Given the description of an element on the screen output the (x, y) to click on. 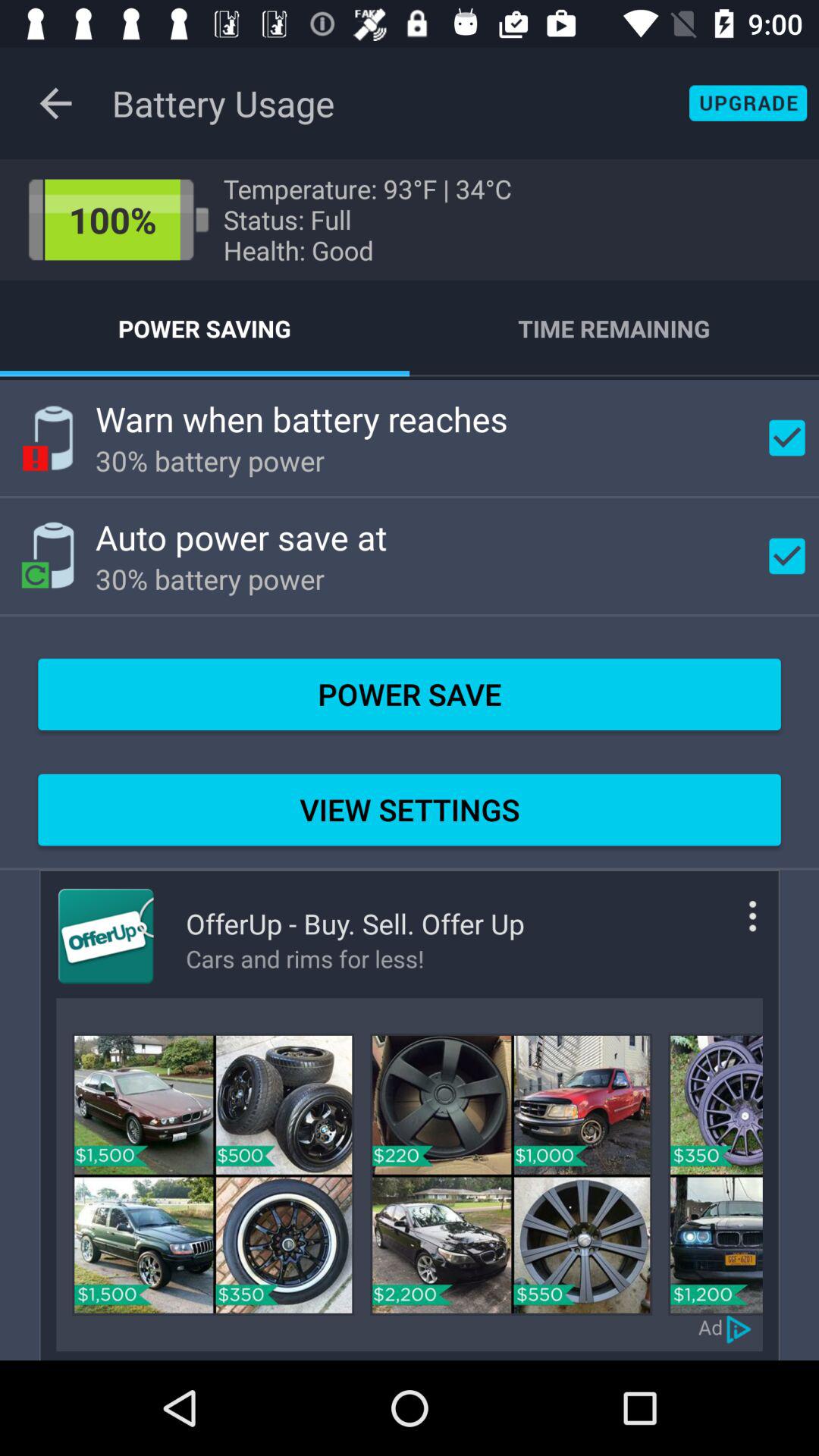
press power saving item (204, 328)
